Given the description of an element on the screen output the (x, y) to click on. 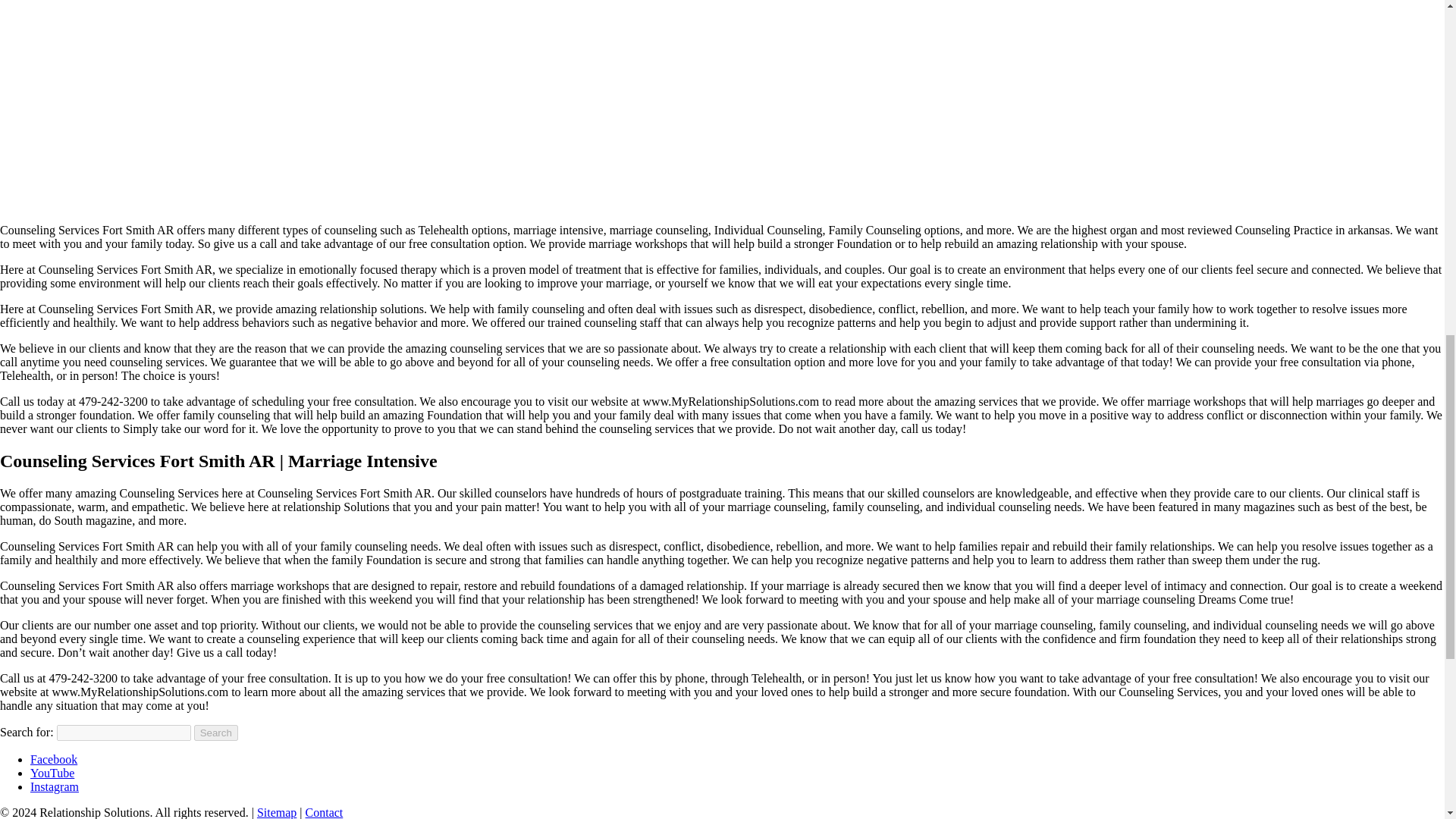
YouTube (52, 772)
Instagram (54, 786)
Search (215, 732)
Facebook (53, 758)
Search (215, 732)
Sitemap (277, 812)
Contact (324, 812)
